Given the description of an element on the screen output the (x, y) to click on. 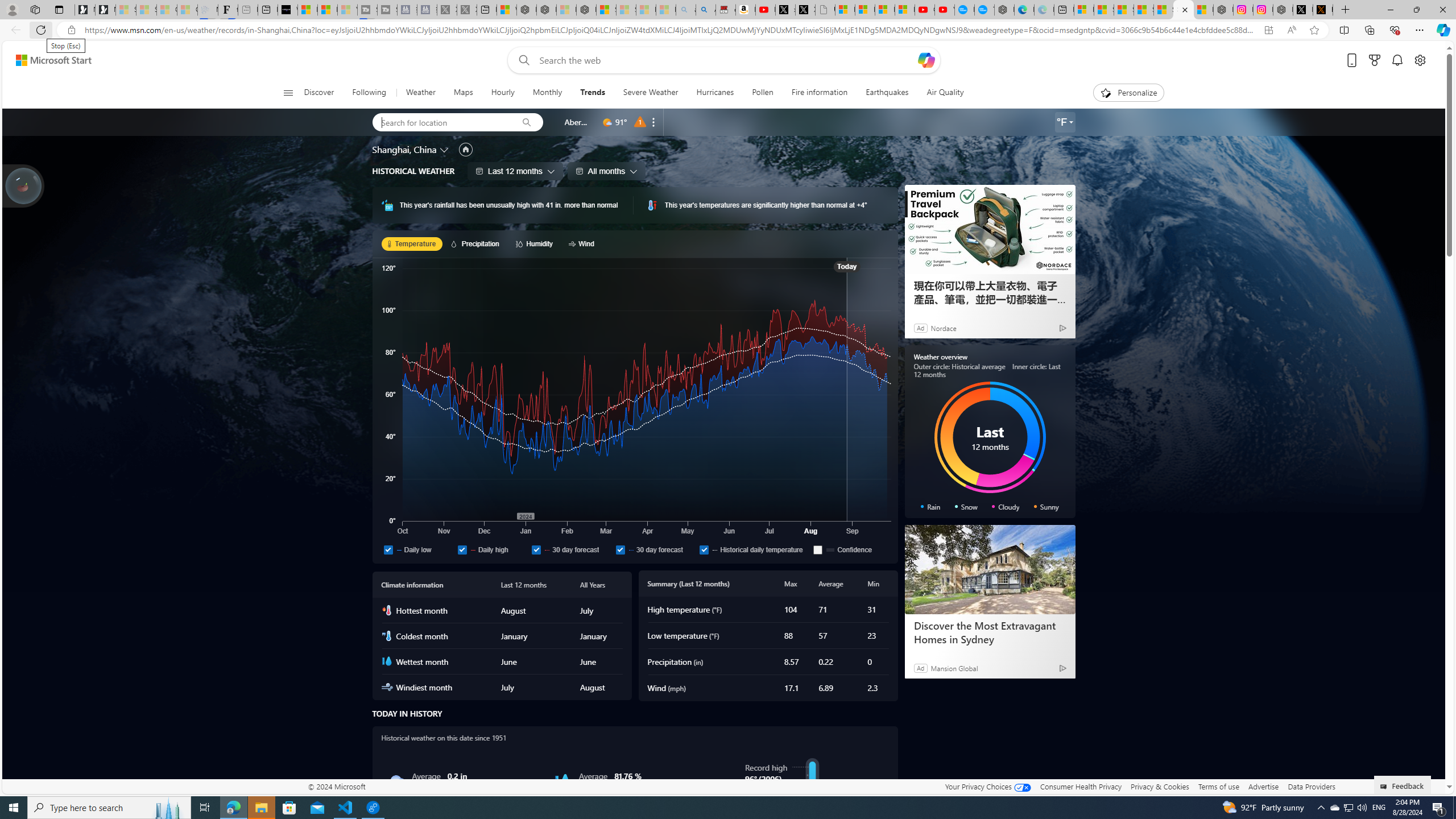
Terms of use (1218, 785)
Nordace (943, 327)
App bar (728, 29)
Monthly (547, 92)
Consumer Health Privacy (1080, 786)
Close tab (1184, 9)
Refresh (40, 29)
All months (606, 170)
X (804, 9)
Wind (582, 243)
Severe Weather (649, 92)
Enter your search term (726, 59)
